Given the description of an element on the screen output the (x, y) to click on. 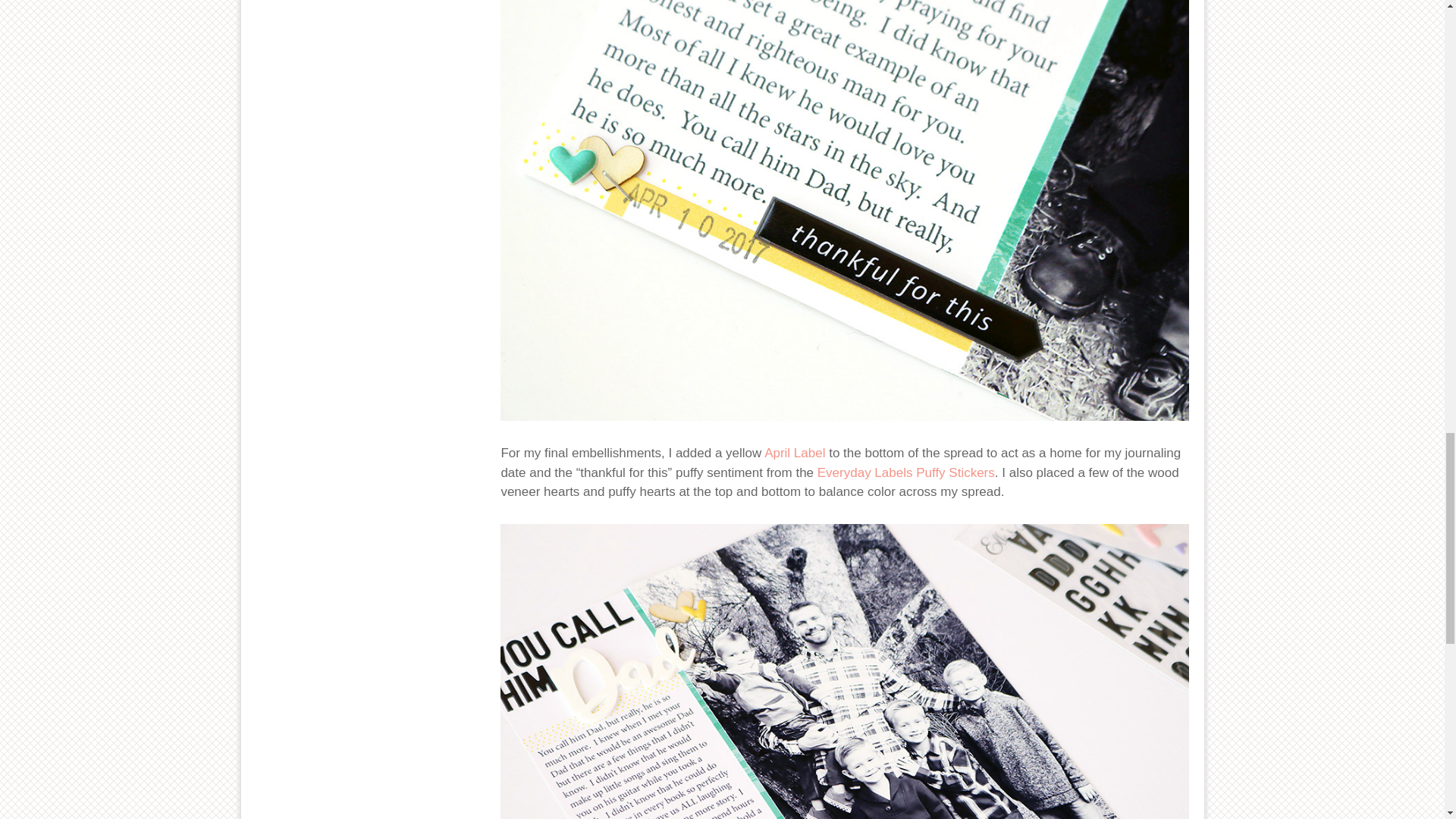
Everyday Labels Puffy Stickers (905, 472)
April Label (794, 452)
